Given the description of an element on the screen output the (x, y) to click on. 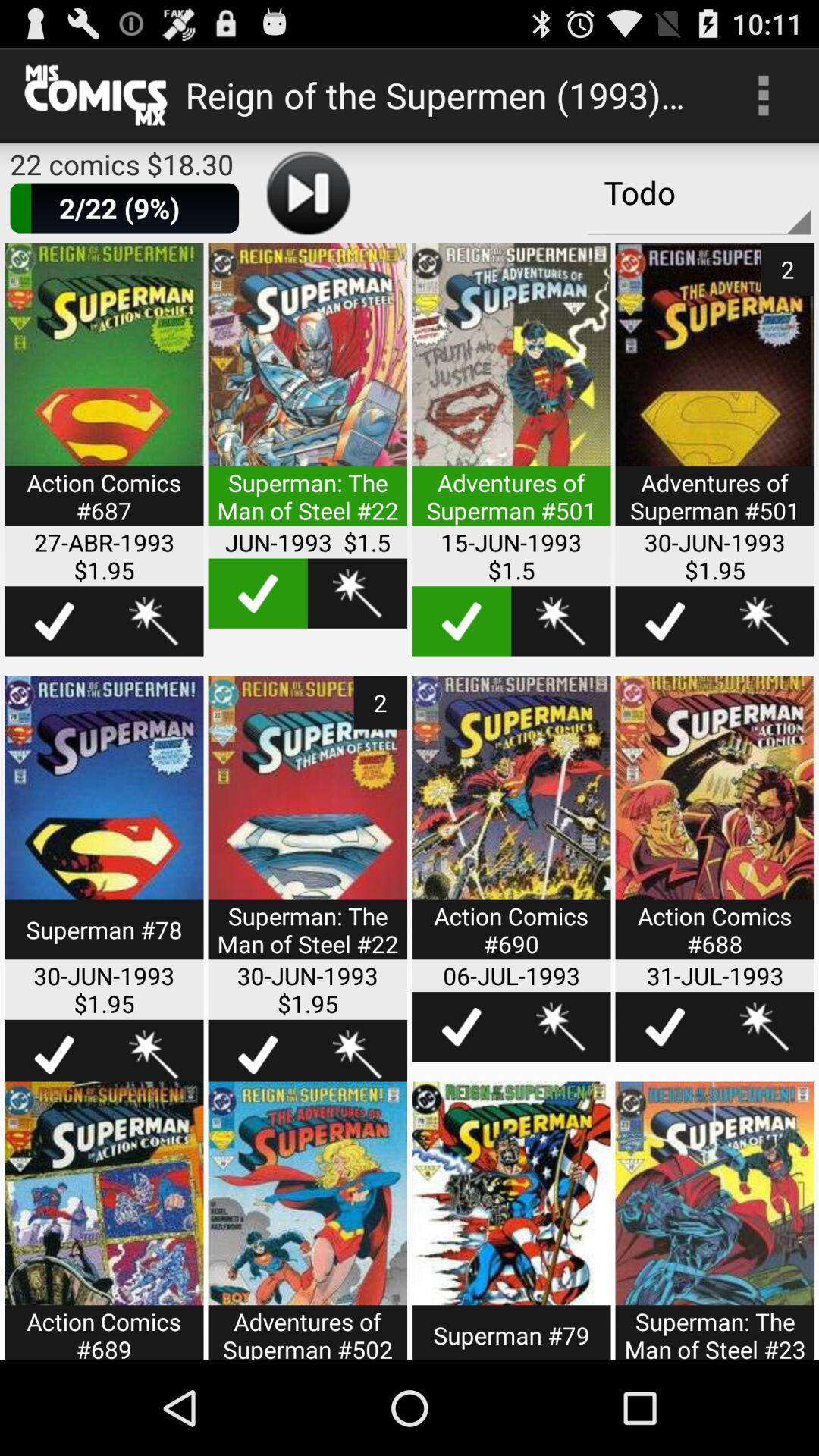
wizard edit (560, 621)
